Given the description of an element on the screen output the (x, y) to click on. 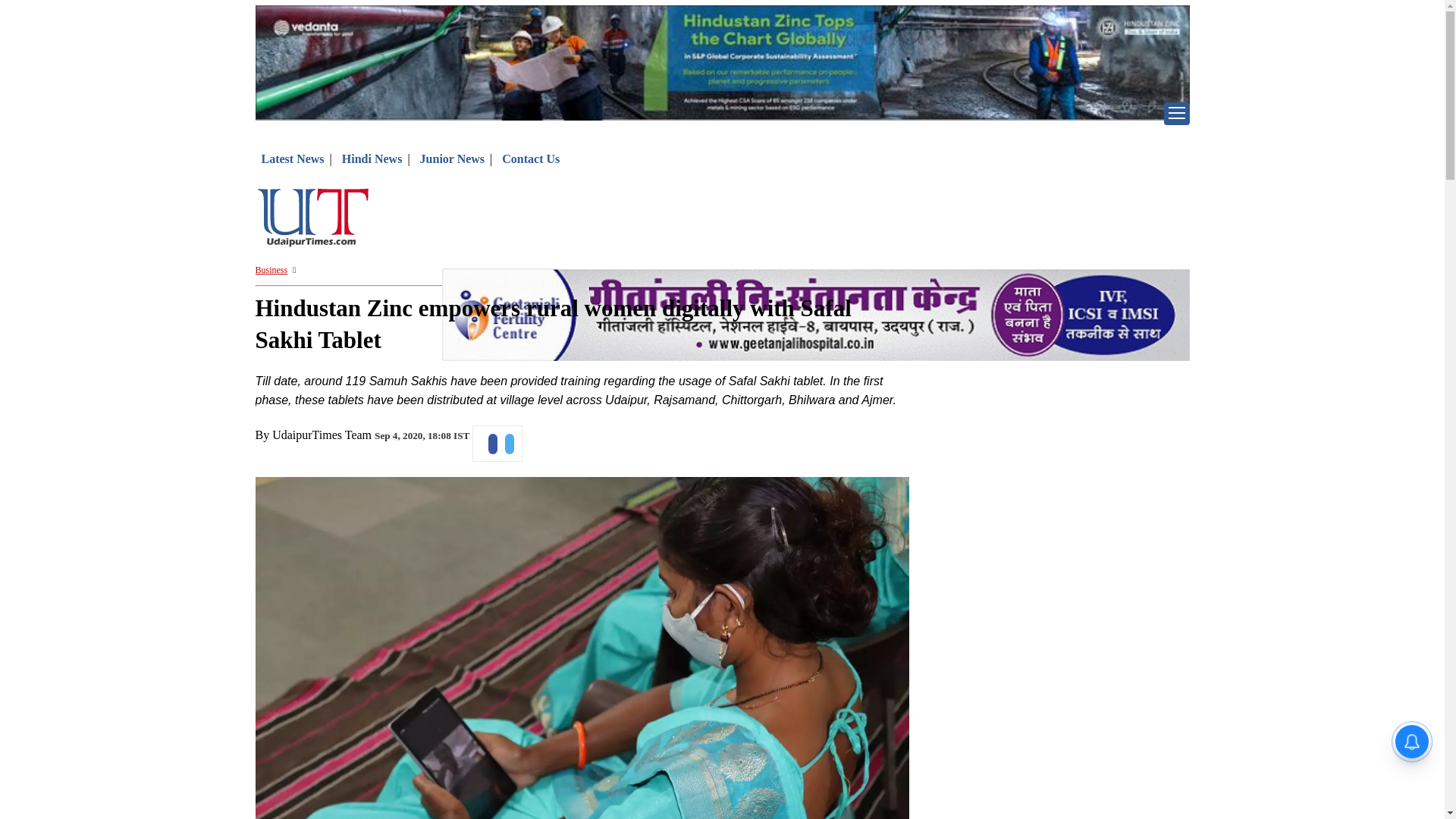
Junior News (452, 158)
Contact Us (530, 158)
3rd party ad content (176, 752)
3rd party ad content (815, 220)
Hindi News (372, 158)
Latest News (291, 158)
